Given the description of an element on the screen output the (x, y) to click on. 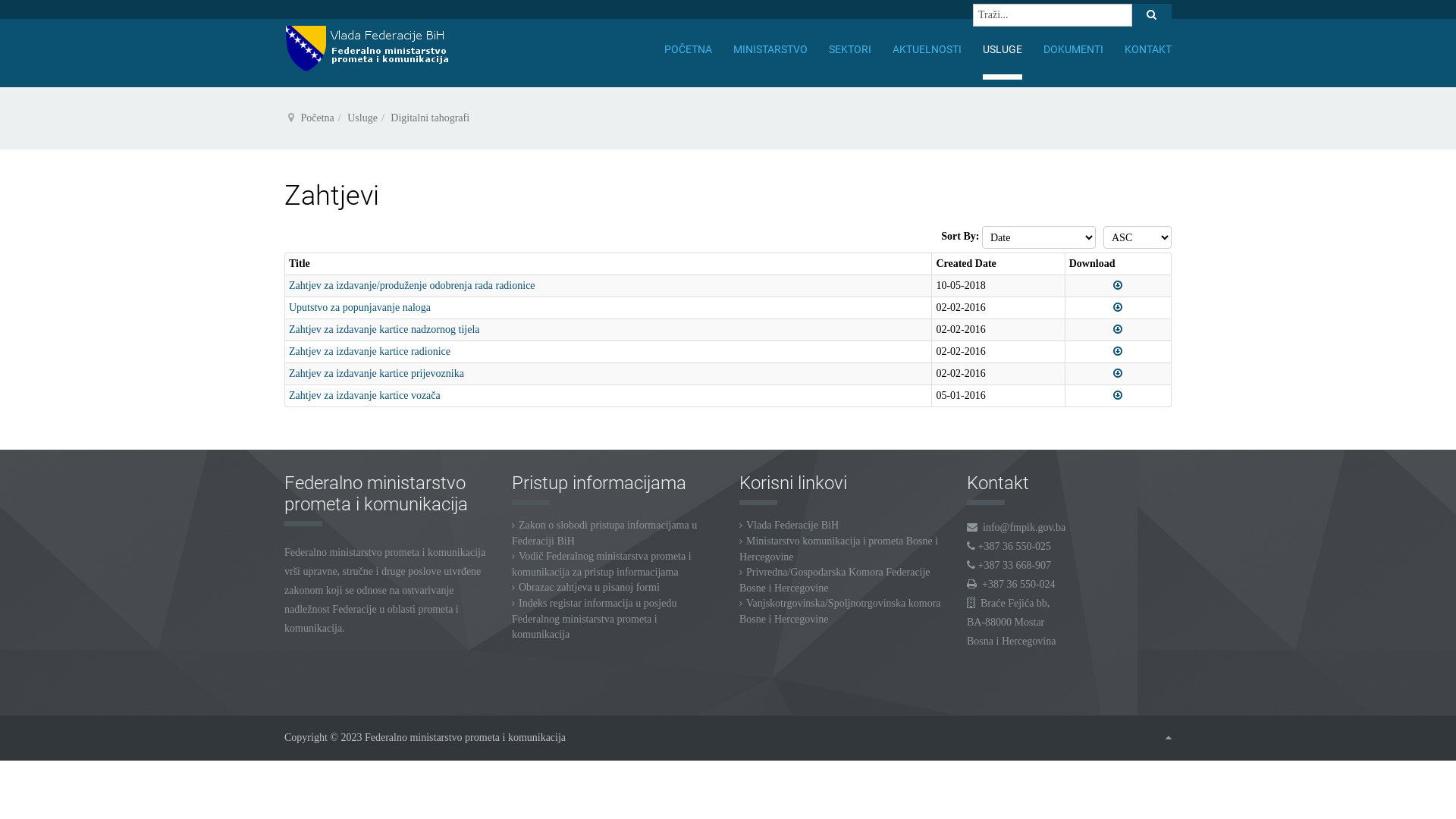
info@fmpik.gov.ba Element type: text (1023, 527)
AKTUELNOSTI Element type: text (926, 48)
Zahtjev za izdavanje kartice nadzornog tijela Element type: text (383, 329)
Zakon o slobodi pristupa informacijama u Federaciji BiH Element type: text (603, 532)
Goto Top Element type: hover (1168, 737)
MINISTARSTVO Element type: text (770, 48)
Digitalni tahografi Element type: text (429, 117)
Privredna/Gospodarska Komora Federacije Bosne i Hercegovine Element type: text (834, 579)
Vlada Federacije BiH Element type: text (792, 524)
KONTAKT Element type: text (1147, 48)
Zahtjev za izdavanje kartice prijevoznika Element type: text (376, 373)
Zahtjev za izdavanje kartice radionice Element type: text (369, 351)
USLUGE Element type: text (1002, 48)
Obrazac zahtjeva u pisanoj formi Element type: text (588, 587)
SEKTORI Element type: text (849, 48)
Uputstvo za popunjavanje naloga Element type: text (359, 307)
Ministarstvo komunikacija i prometa Bosne i Hercegovine Element type: text (838, 548)
DOKUMENTI Element type: text (1073, 48)
Vi ste ovdje:  Element type: hover (291, 117)
